Given the description of an element on the screen output the (x, y) to click on. 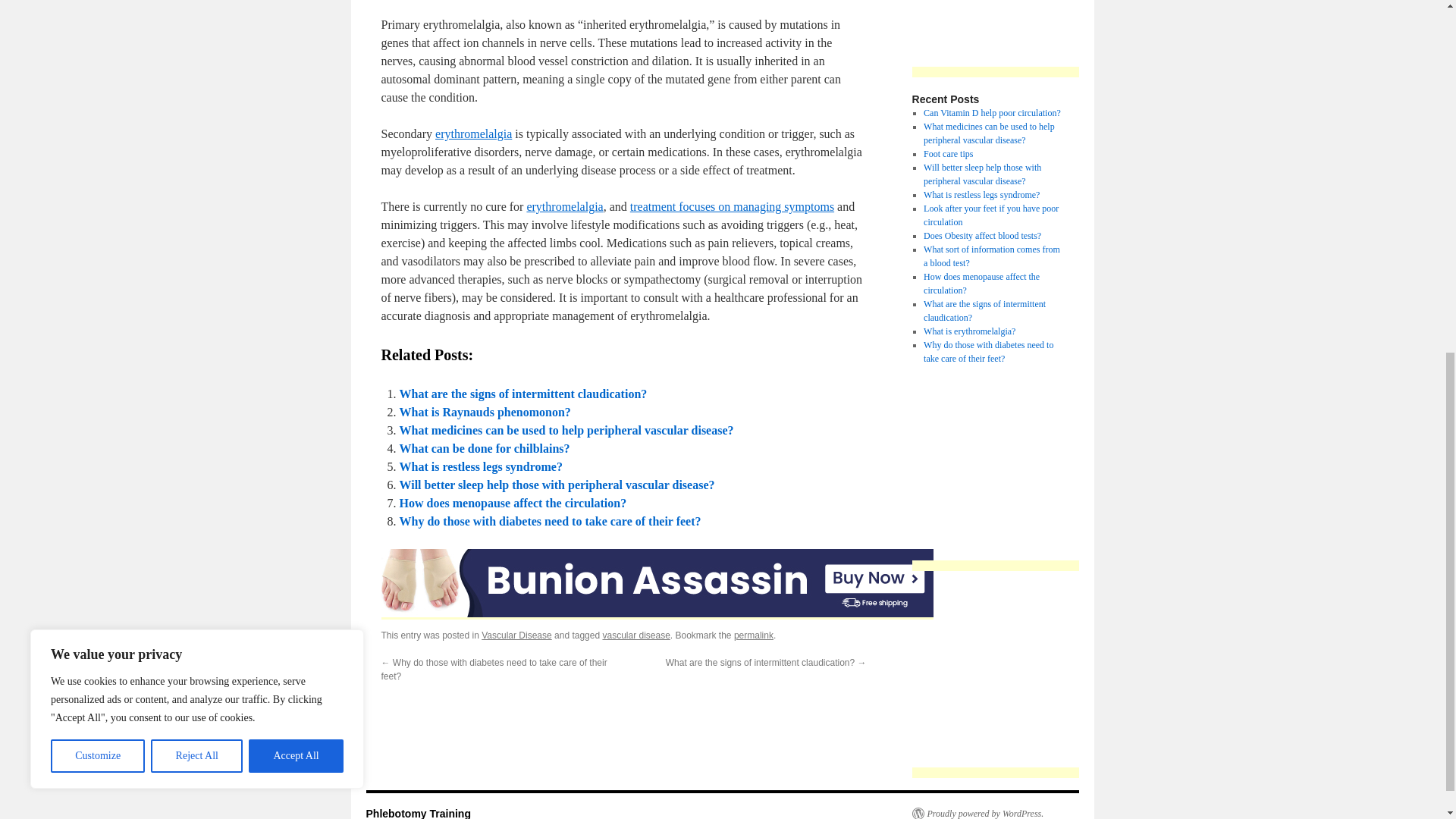
Bunion Assassin (656, 582)
Why do those with diabetes need to take care of their feet? (549, 521)
Customize (97, 118)
Why do those with diabetes need to take care of their feet? (549, 521)
treatment focuses on managing symptoms (732, 205)
erythromelalgia (563, 205)
Vascular Disease (516, 634)
Reject All (197, 118)
What is restless legs syndrome? (480, 466)
